Given the description of an element on the screen output the (x, y) to click on. 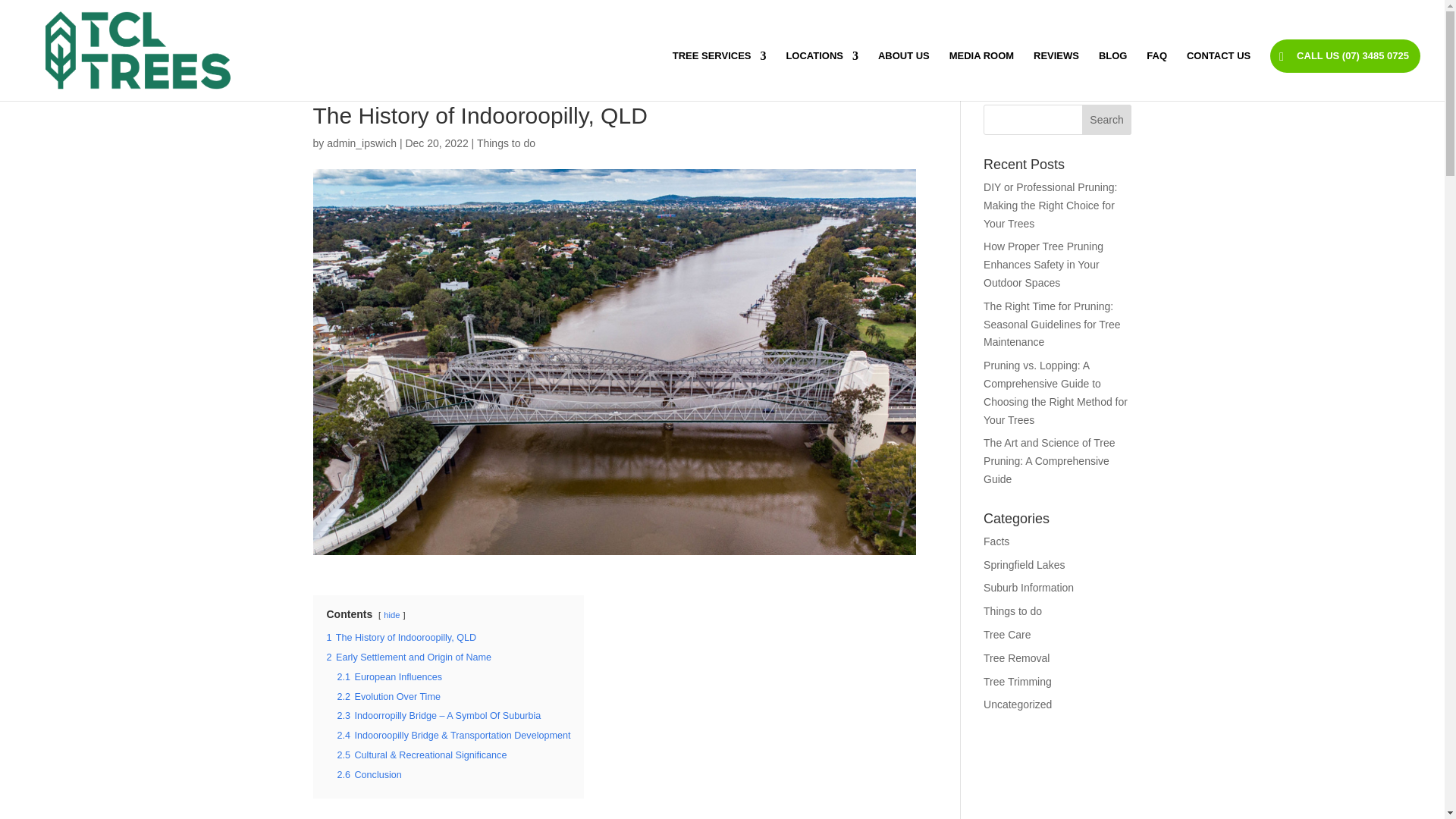
Search (1106, 119)
LOCATIONS (822, 75)
TREE SERVICES (719, 75)
